Given the description of an element on the screen output the (x, y) to click on. 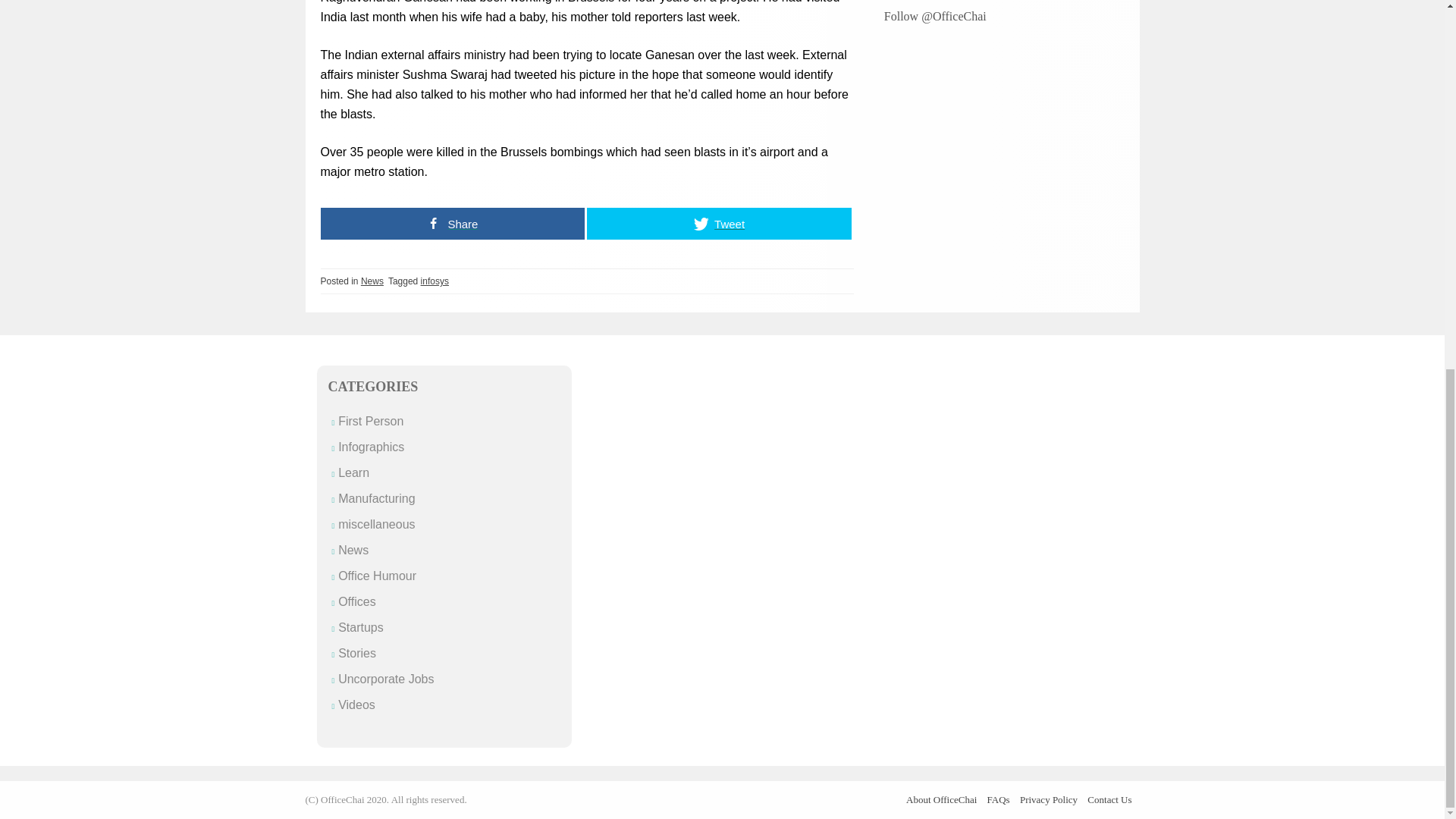
Infographics (370, 446)
News (352, 549)
Tweet (718, 223)
infosys (434, 281)
Share (452, 223)
Manufacturing (375, 498)
First Person (370, 420)
Offices (356, 601)
News (372, 281)
Office Humour (376, 575)
Learn (353, 472)
Startups (360, 626)
miscellaneous (375, 523)
